Given the description of an element on the screen output the (x, y) to click on. 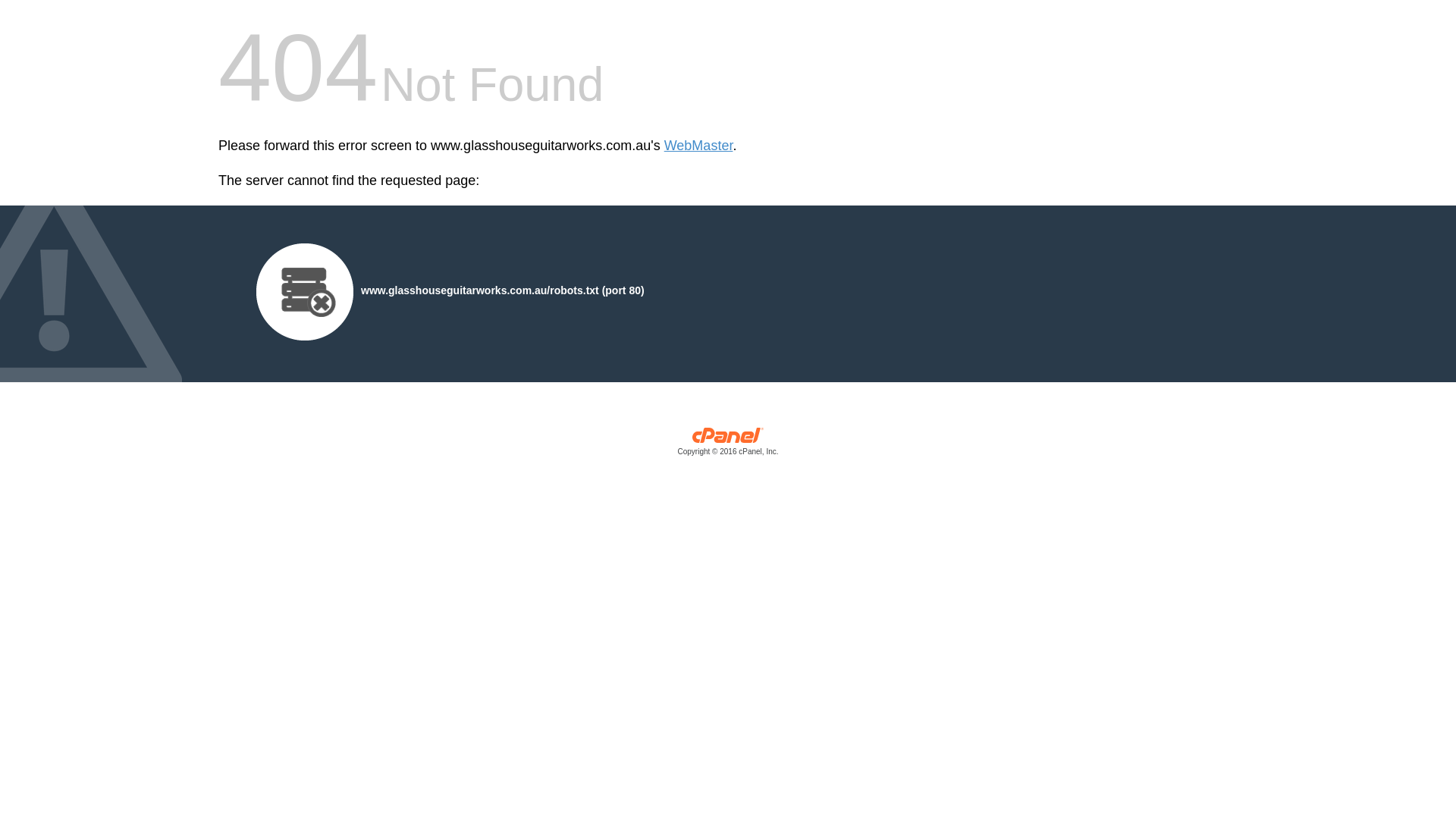
WebMaster Element type: text (698, 145)
